Given the description of an element on the screen output the (x, y) to click on. 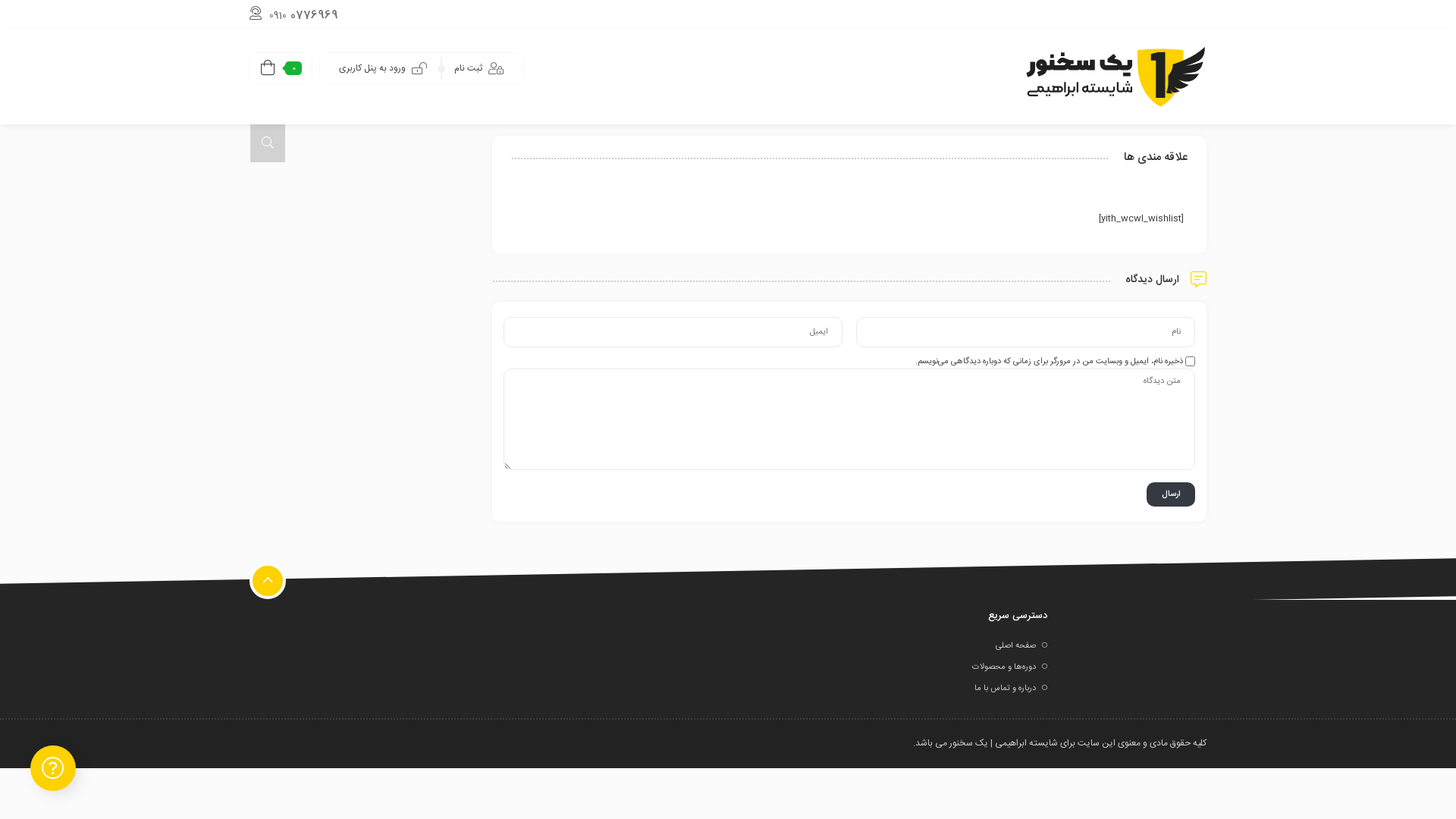
0 Element type: text (279, 68)
